Given the description of an element on the screen output the (x, y) to click on. 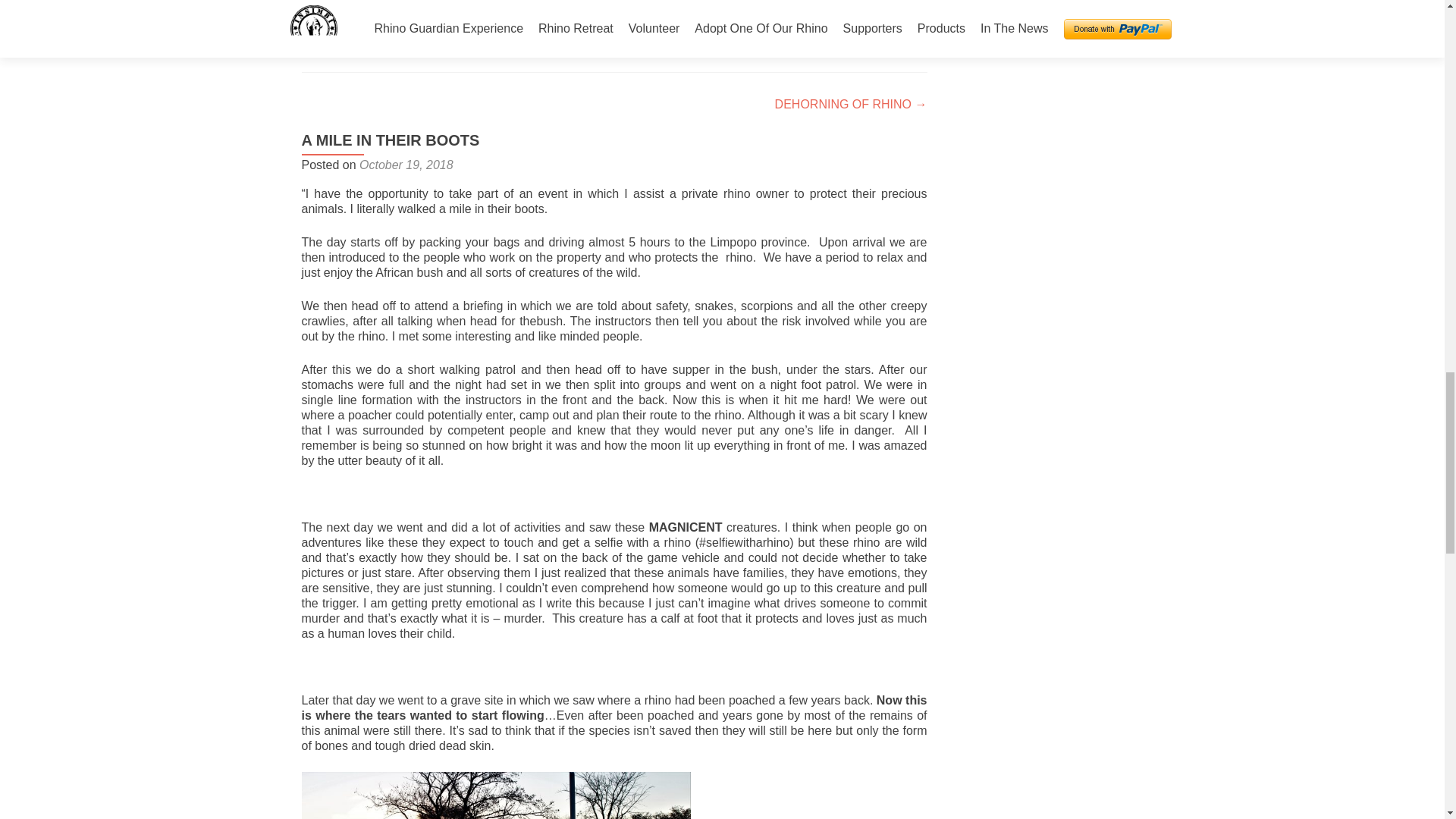
BLOG (451, 39)
October 19, 2018 (405, 164)
permalink (580, 39)
